Given the description of an element on the screen output the (x, y) to click on. 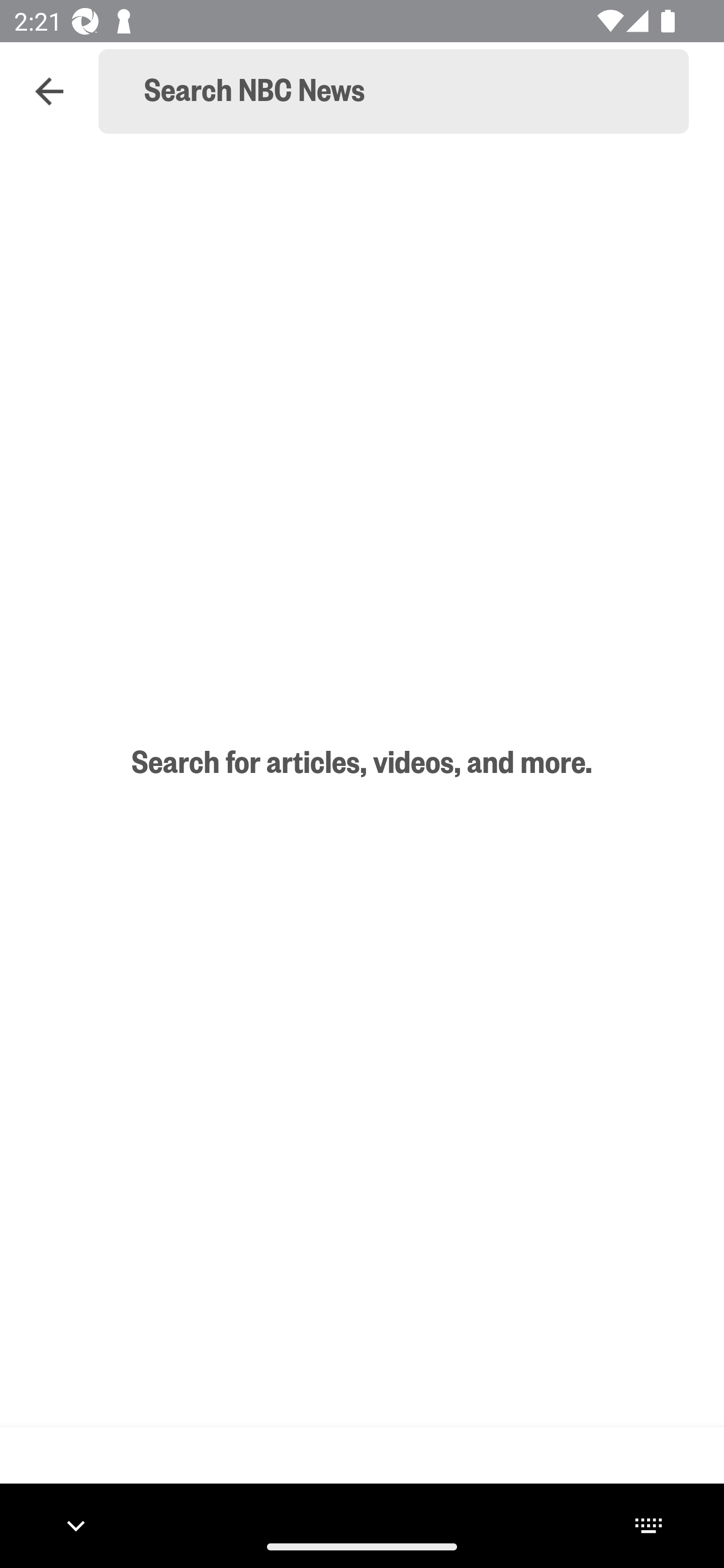
Navigate up (49, 91)
Search NBC News (402, 91)
